Given the description of an element on the screen output the (x, y) to click on. 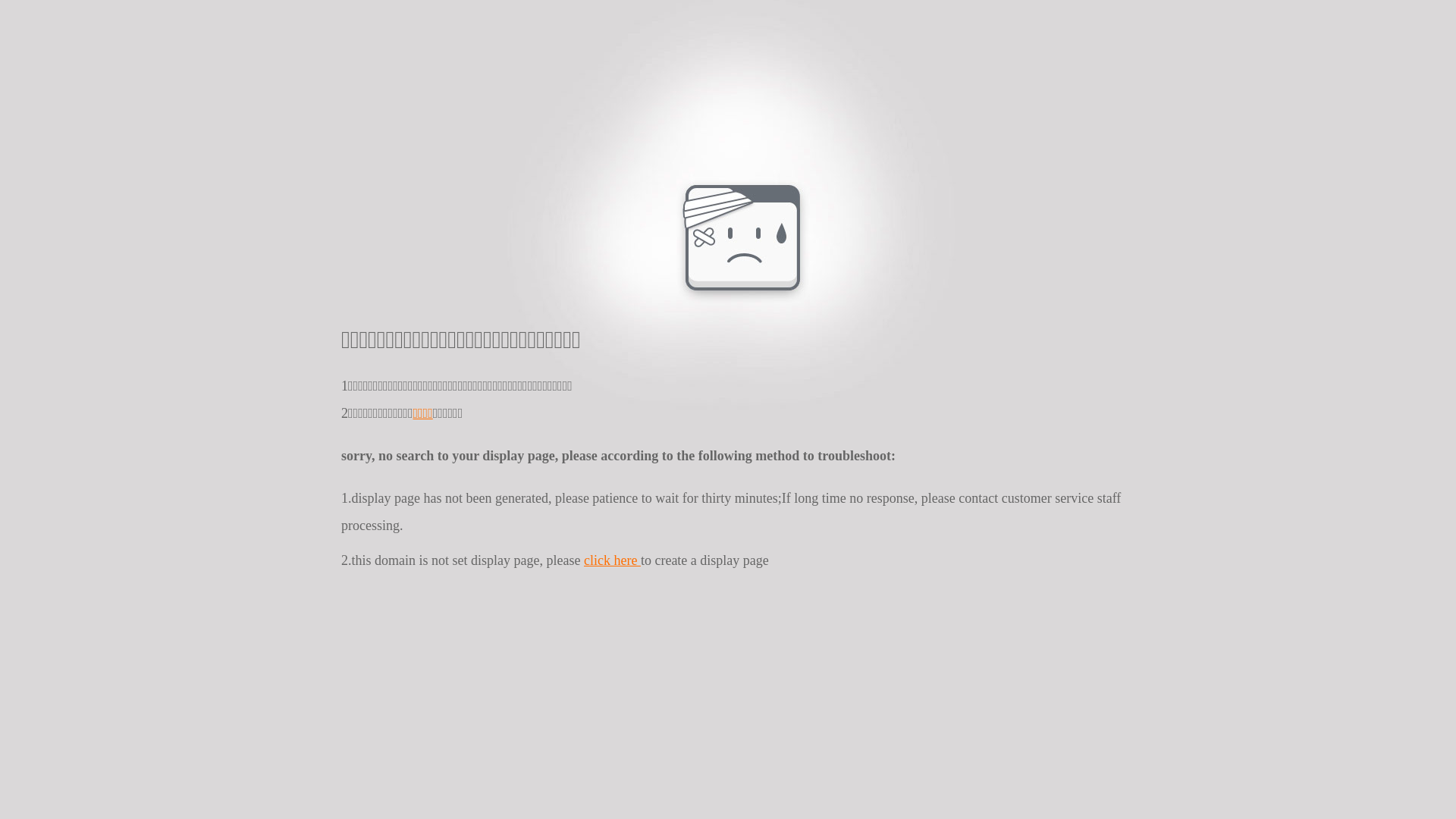
click here Element type: text (611, 559)
